Given the description of an element on the screen output the (x, y) to click on. 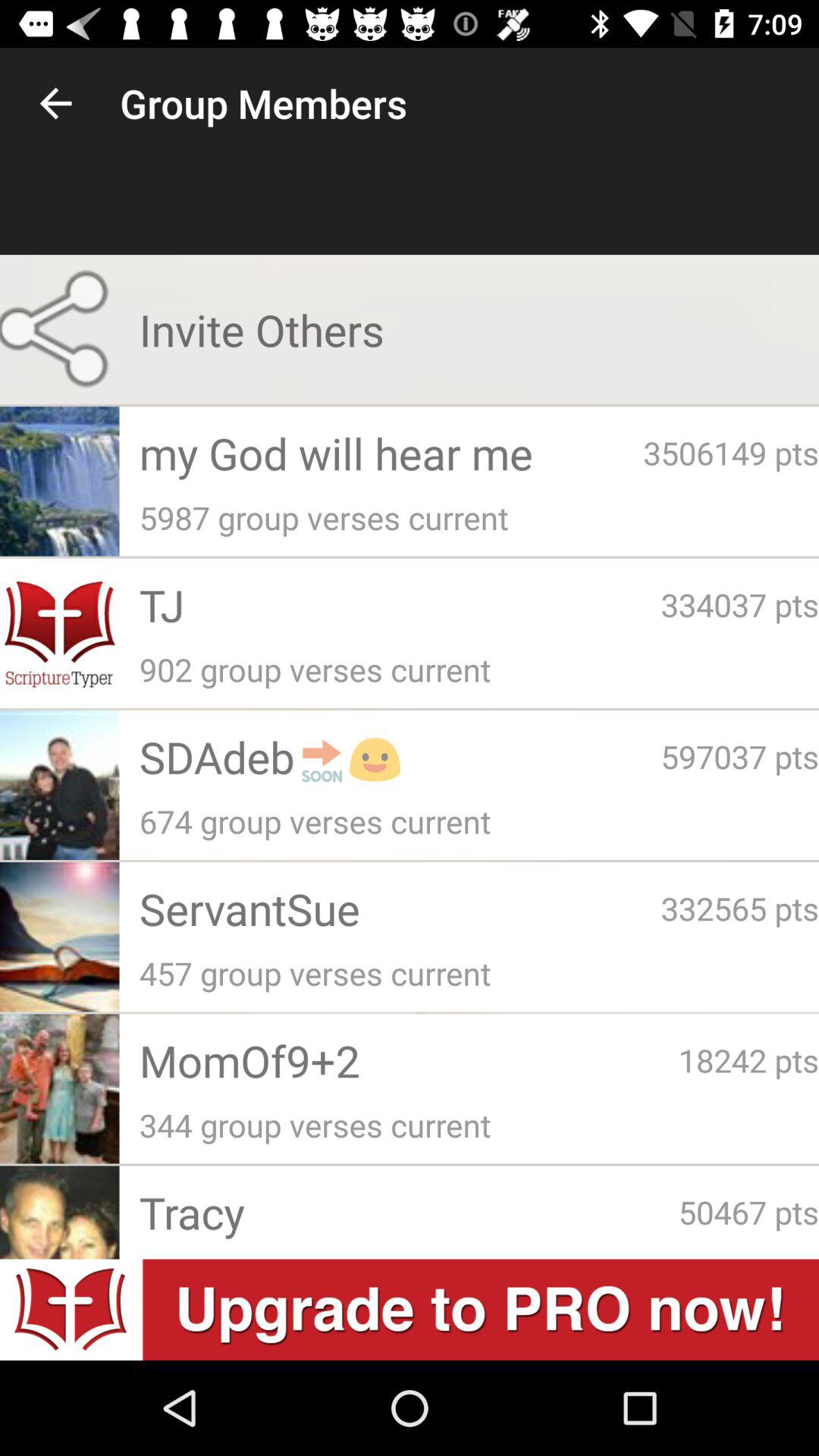
swipe to tj item (399, 604)
